Given the description of an element on the screen output the (x, y) to click on. 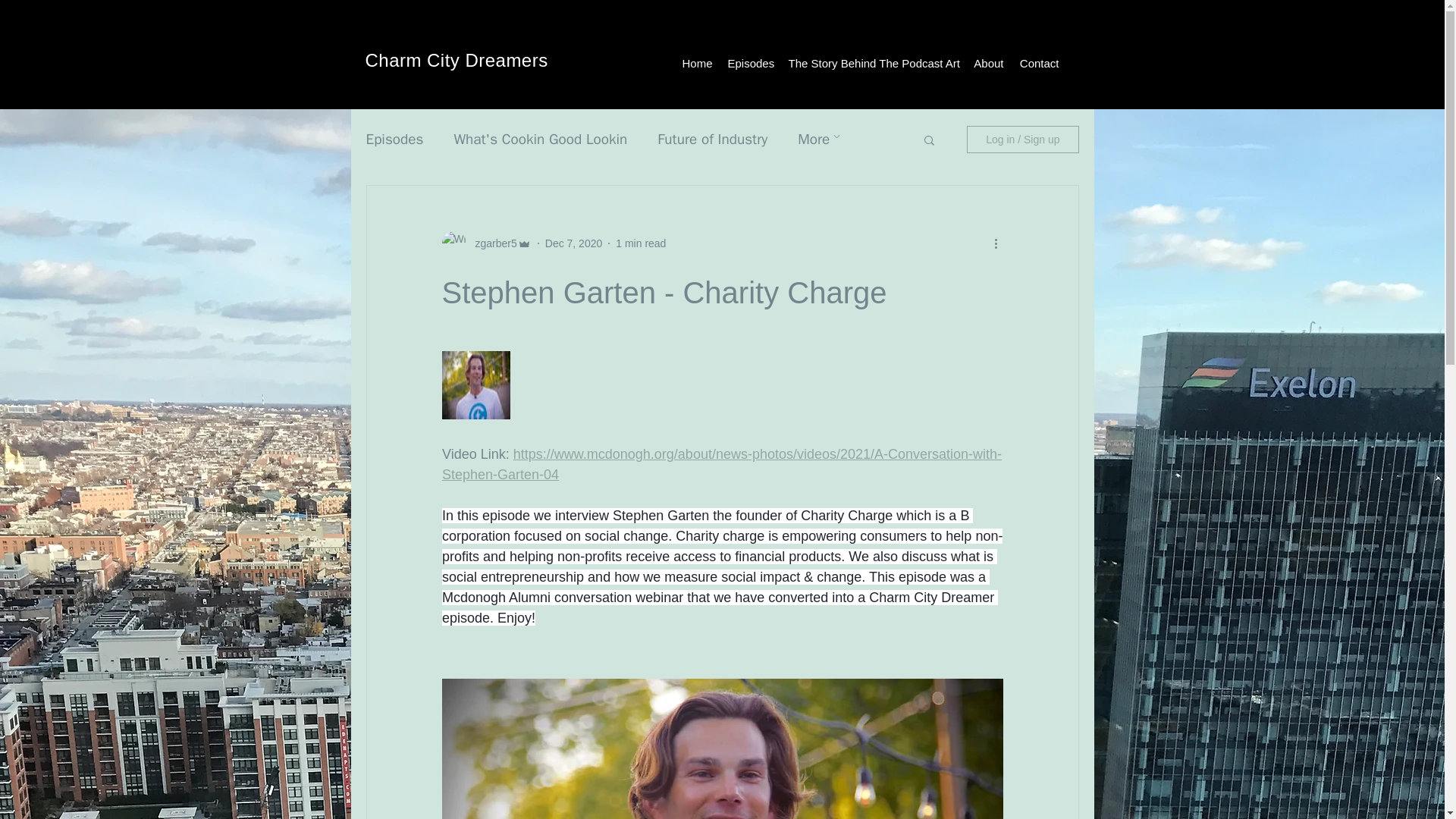
About (986, 63)
Future of Industry (712, 139)
Contact (1039, 63)
The Story Behind The Podcast Art (872, 63)
What's Cookin Good Lookin (539, 139)
remote content (722, 386)
1 min read (640, 242)
Dec 7, 2020 (573, 242)
Charm City Dreamers (456, 59)
zgarber5 (490, 242)
Home (695, 63)
Episodes (394, 139)
Episodes (750, 63)
